Given the description of an element on the screen output the (x, y) to click on. 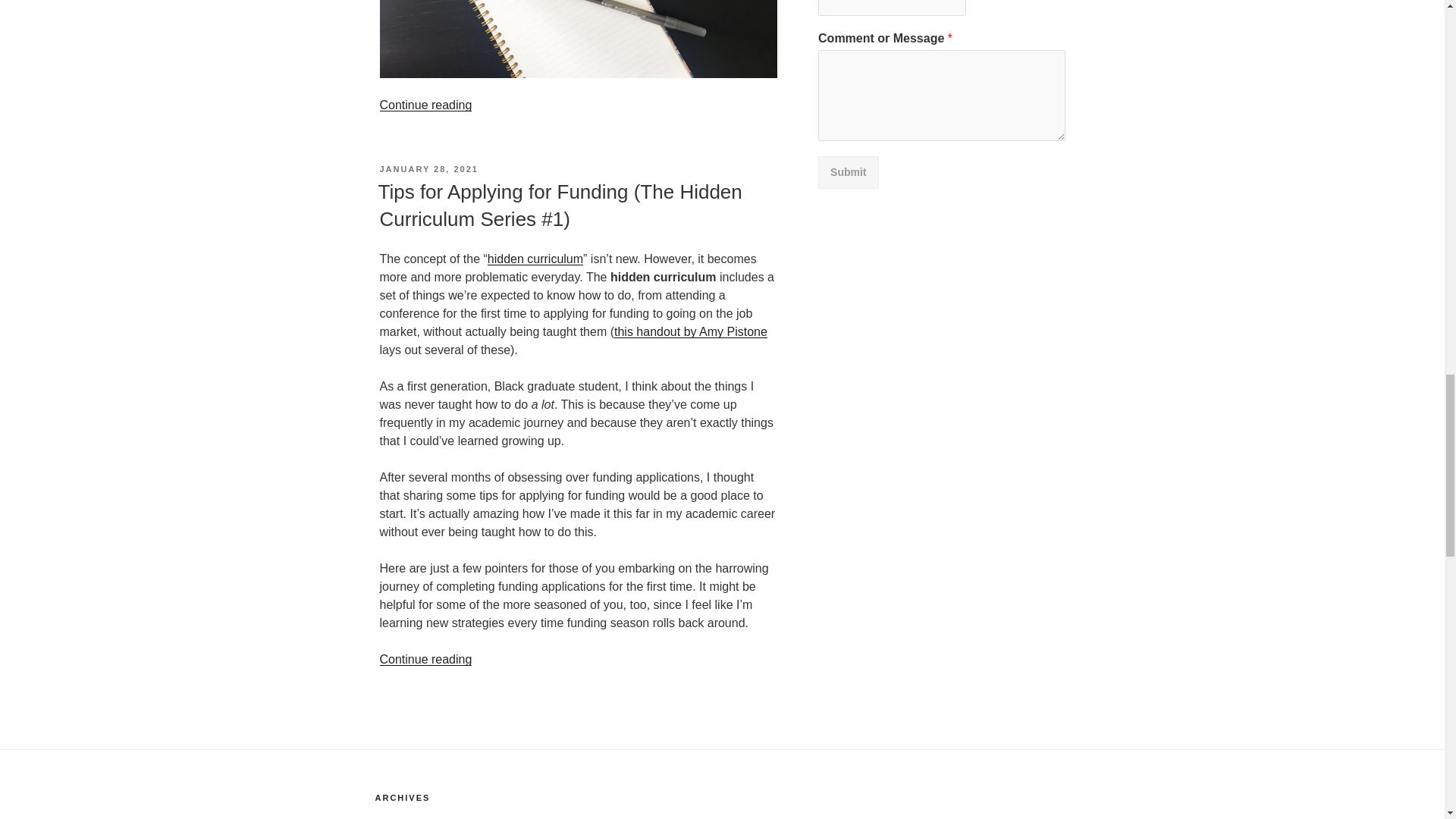
Submit (847, 172)
JANUARY 28, 2021 (427, 168)
hidden curriculum (535, 258)
this handout by Amy Pistone (690, 331)
